Given the description of an element on the screen output the (x, y) to click on. 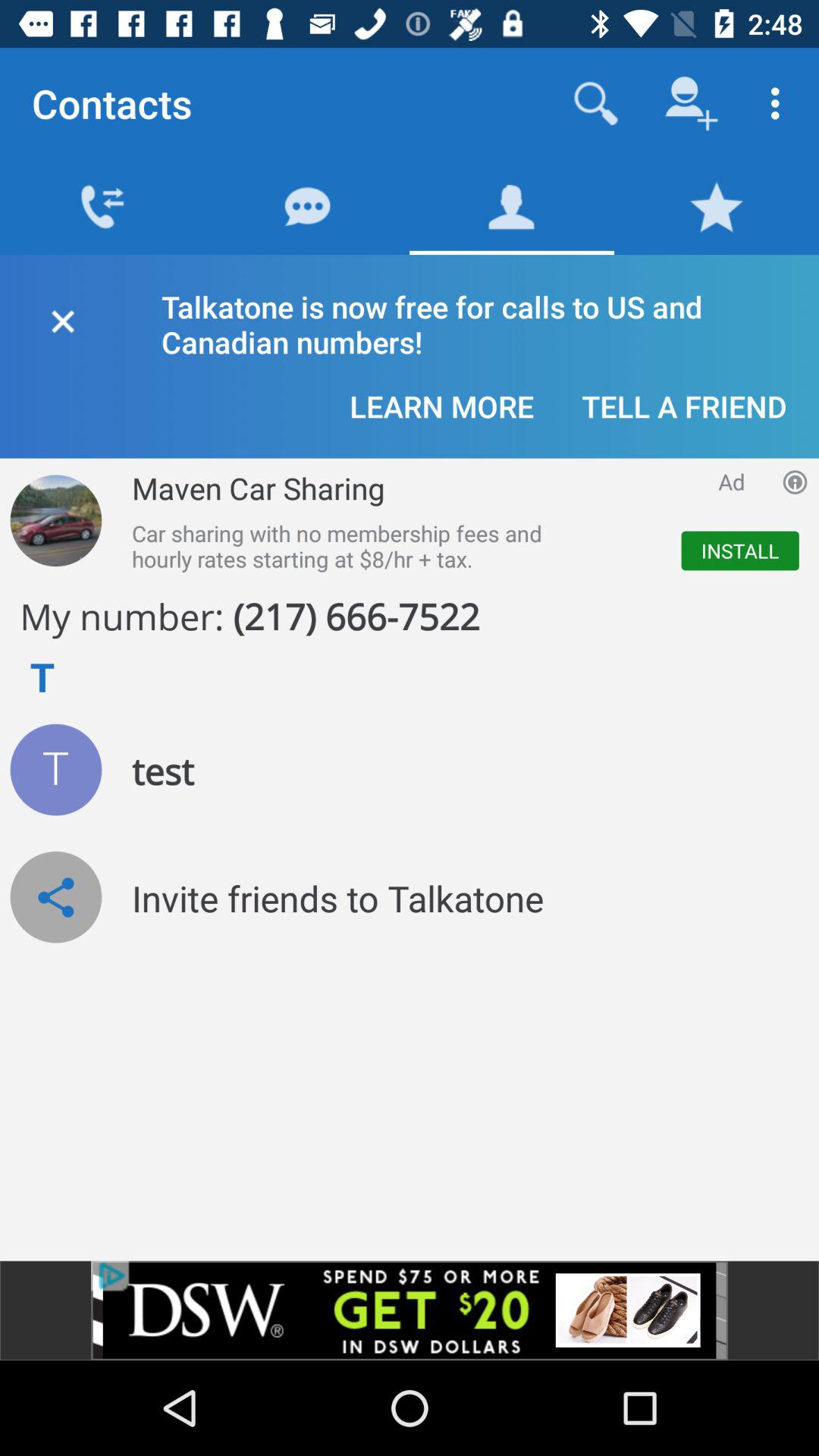
search (595, 103)
